Given the description of an element on the screen output the (x, y) to click on. 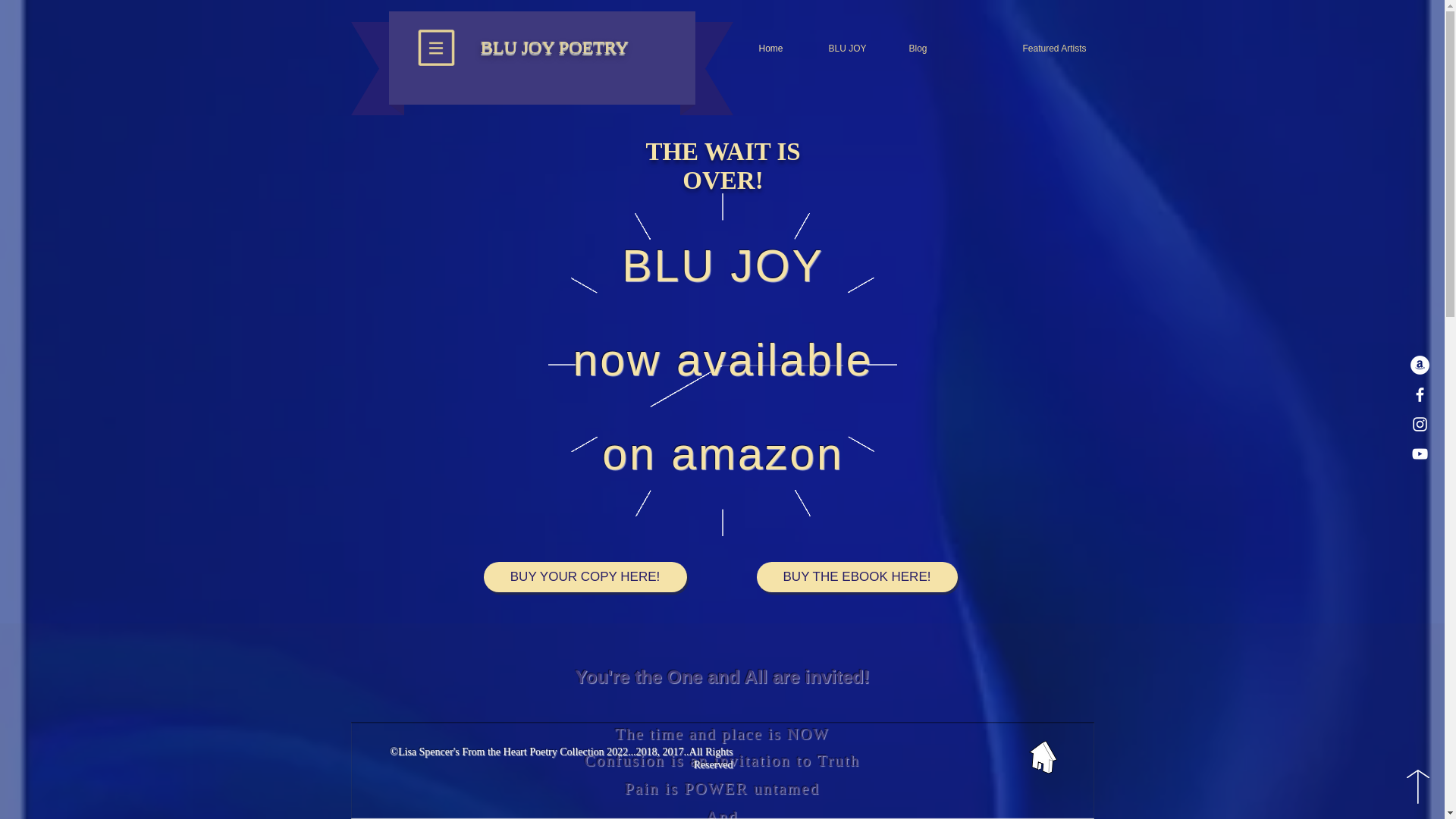
Home (761, 48)
Featured Artists (1018, 48)
BUY YOUR COPY HERE! (585, 576)
BUY THE EBOOK HERE! (857, 576)
BLU JOY (835, 48)
Blog (908, 48)
BLU JOY POETRY (554, 46)
